Given the description of an element on the screen output the (x, y) to click on. 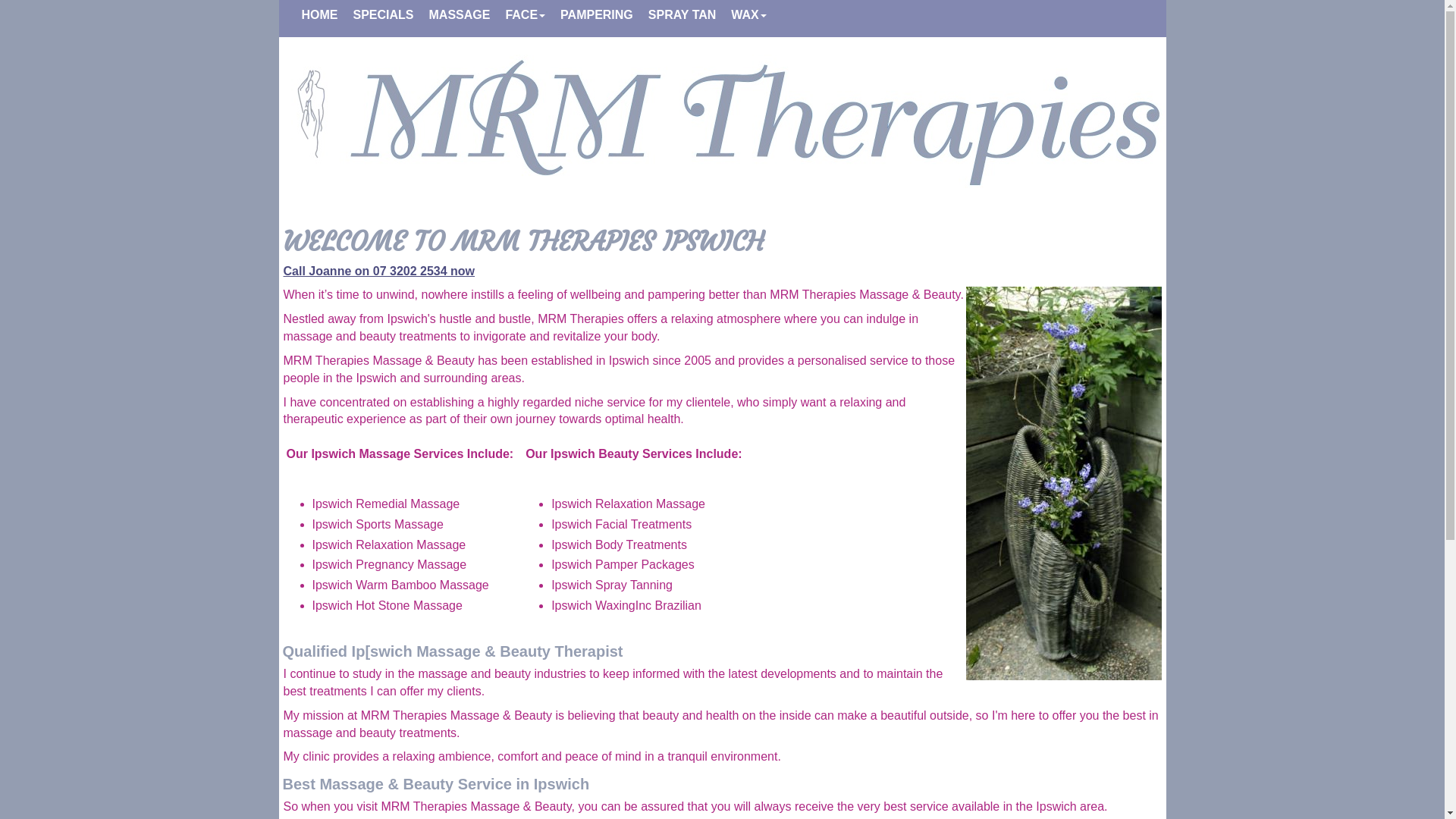
FACE Element type: text (525, 14)
SPRAY TAN Element type: text (682, 14)
MASSAGE Element type: text (459, 14)
PAMPERING Element type: text (596, 14)
SPECIALS Element type: text (382, 14)
HOME Element type: text (319, 14)
WAX Element type: text (748, 14)
Call Joanne on 07 3202 2534 now Element type: text (379, 269)
